Given the description of an element on the screen output the (x, y) to click on. 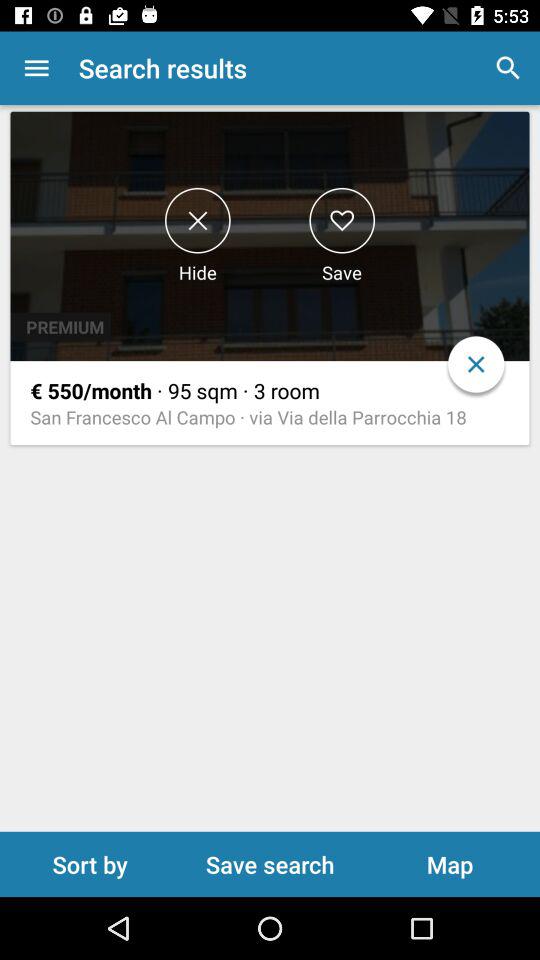
tap the icon below the san francesco al (270, 863)
